Given the description of an element on the screen output the (x, y) to click on. 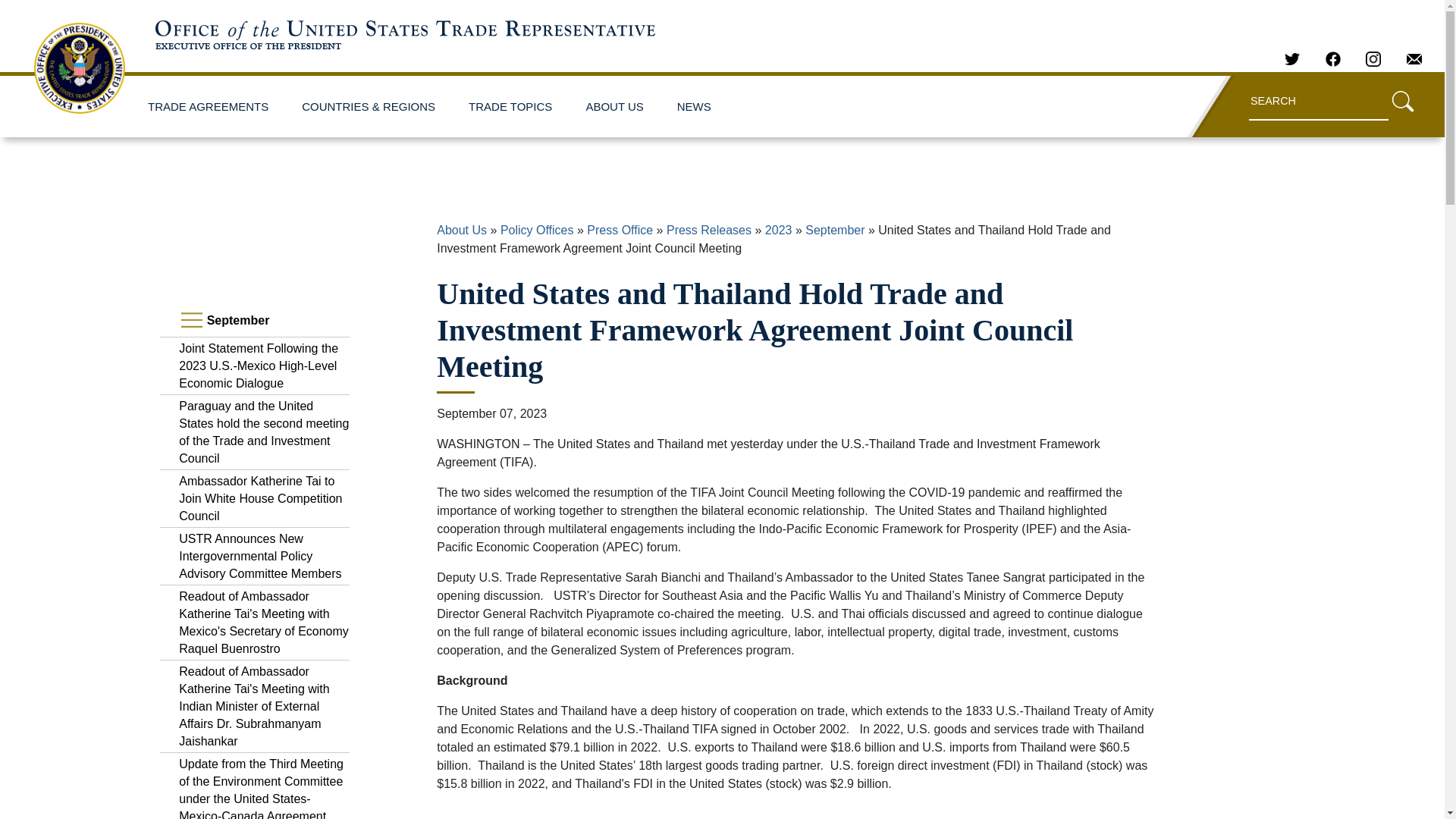
TRADE AGREEMENTS (211, 106)
ABOUT US (618, 106)
TRADE TOPICS (514, 106)
